Given the description of an element on the screen output the (x, y) to click on. 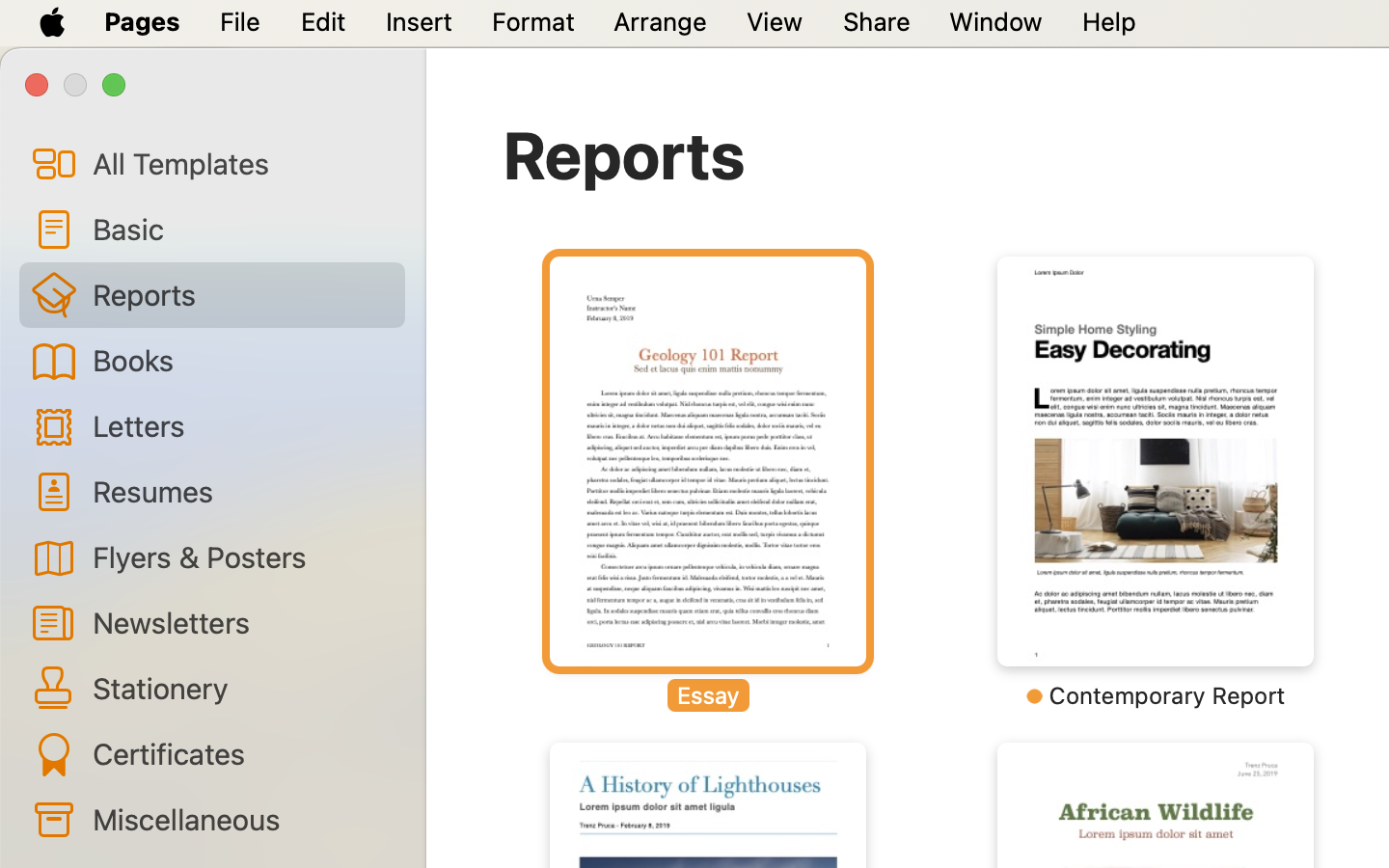
Stationery Element type: AXStaticText (240, 687)
Resumes Element type: AXStaticText (240, 490)
Basic Element type: AXStaticText (240, 228)
Miscellaneous Element type: AXStaticText (240, 818)
‎￼ ⁨Contemporary Report⁩ Element type: AXButton (1155, 483)
